Given the description of an element on the screen output the (x, y) to click on. 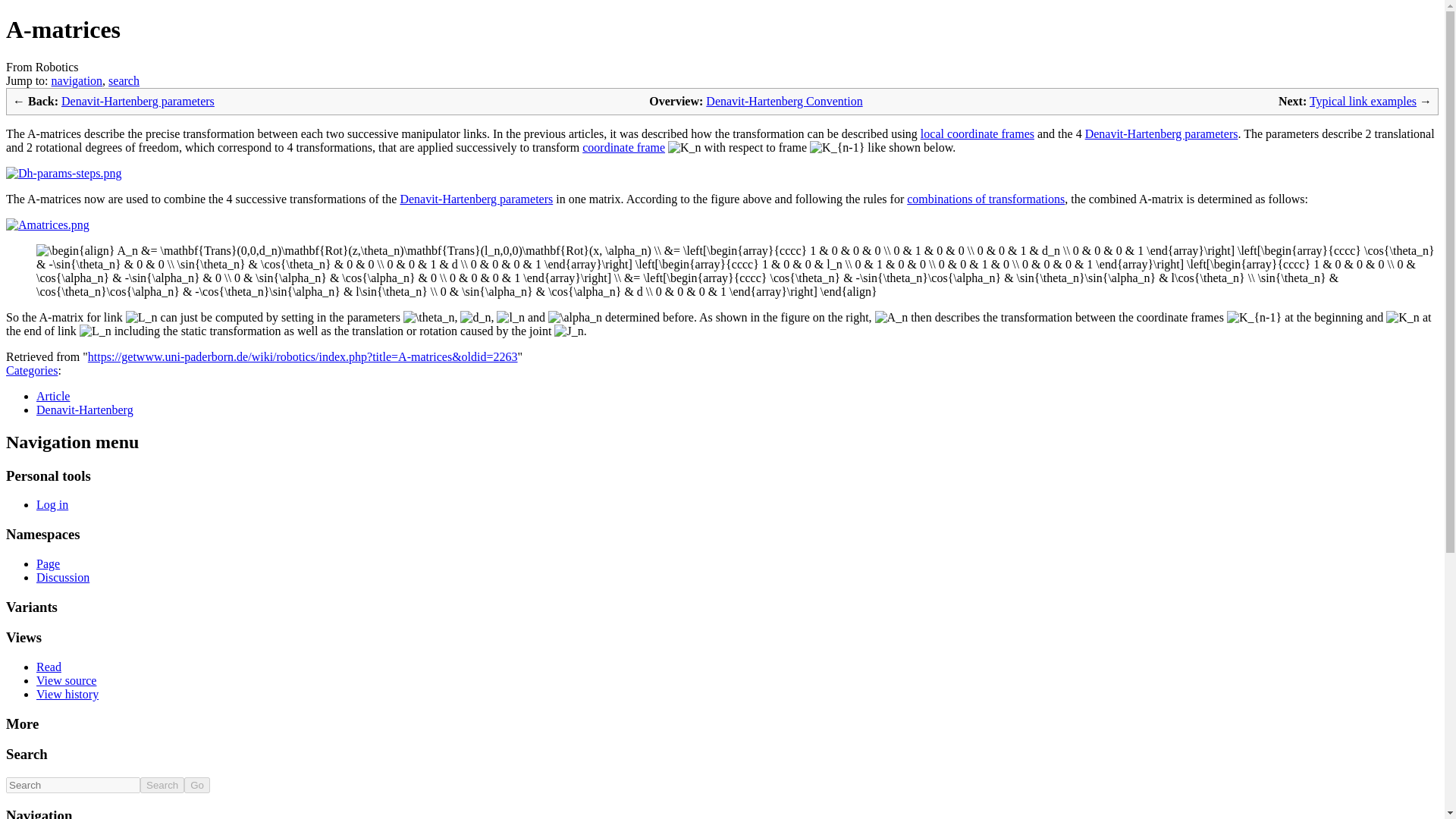
Categories (31, 369)
Search (161, 785)
Search (161, 785)
Assigning coordinate frames (976, 133)
Typical link examples (1362, 101)
Go (196, 785)
Article (52, 395)
View source (66, 680)
Denavit-Hartenberg parameters (475, 198)
Denavit-Hartenberg (84, 409)
Log in (52, 504)
Typical link examples (1362, 101)
coordinate frame (623, 146)
Page (47, 563)
combinations of transformations (985, 198)
